Given the description of an element on the screen output the (x, y) to click on. 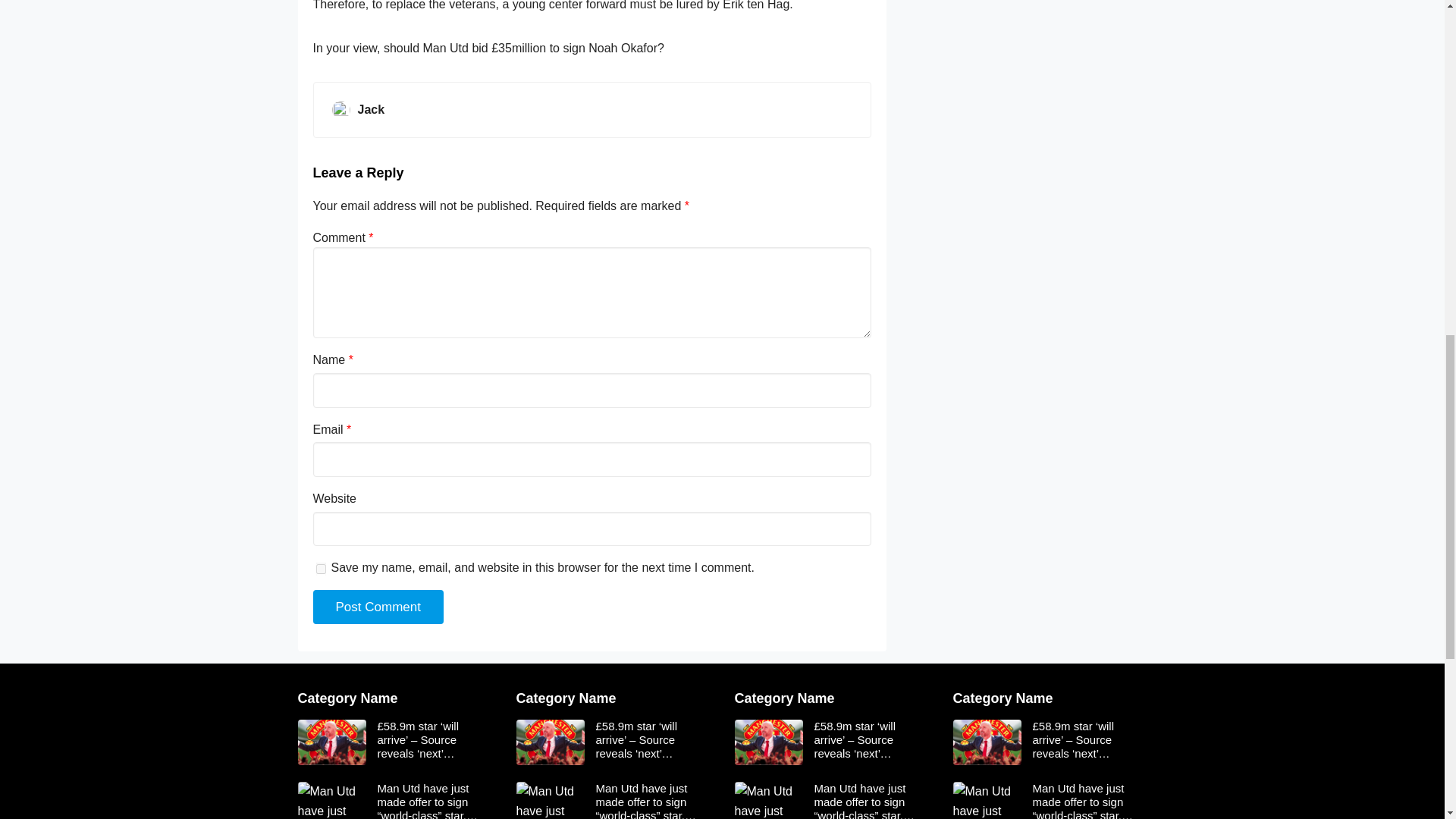
Category Name (783, 698)
Category Name (565, 698)
Category Name (1002, 698)
Post Comment (377, 606)
Category Name (347, 698)
Post Comment (377, 606)
